Given the description of an element on the screen output the (x, y) to click on. 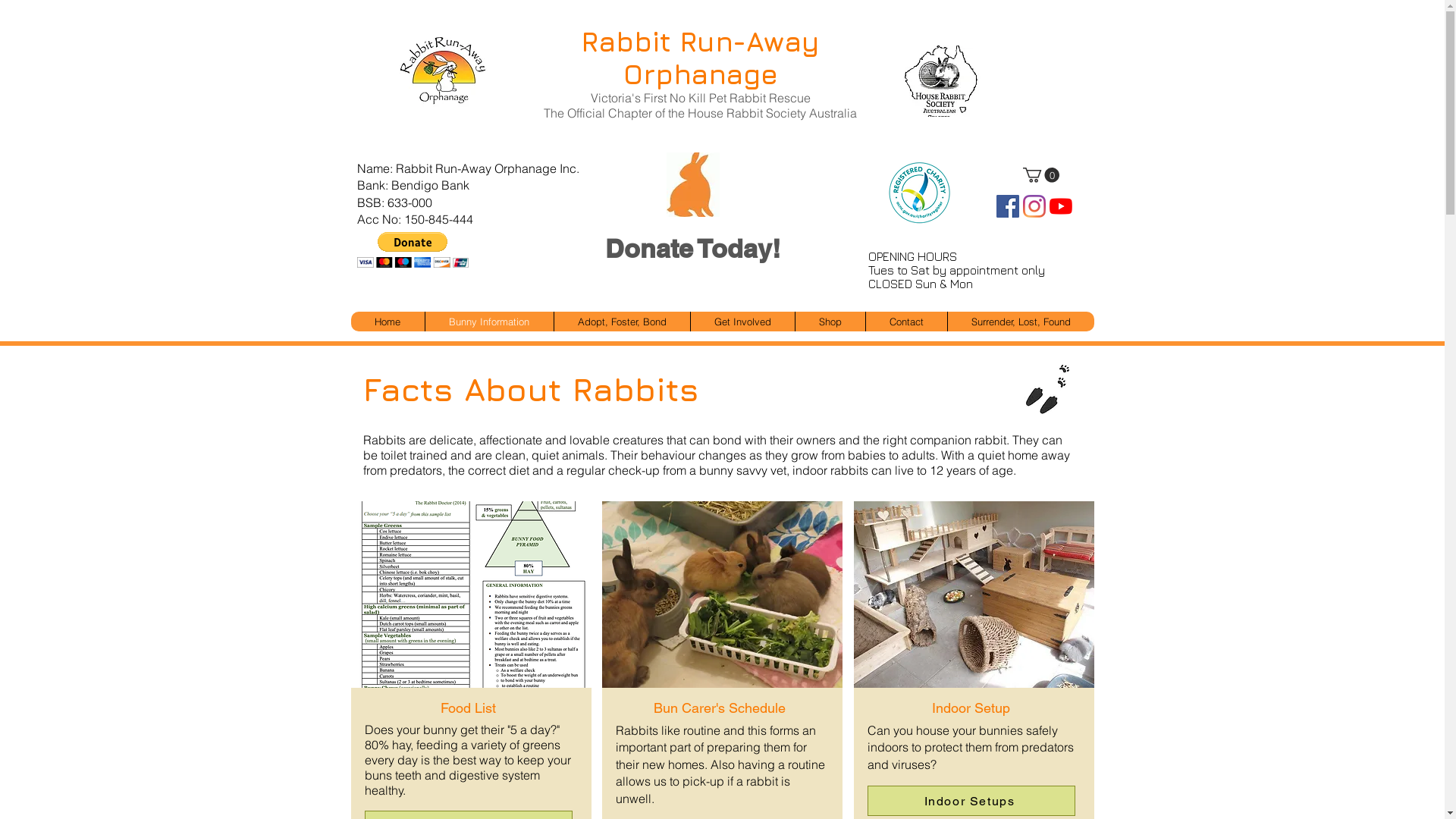
Blaze and Alani.jpg Element type: hover (721, 588)
Indoor Setups Element type: text (971, 800)
Blaze and Alani.jpg Element type: hover (469, 588)
0 Element type: text (1040, 174)
Contact Element type: text (905, 321)
Bunny Information Element type: text (488, 321)
RRO Logo New.jpg Element type: hover (442, 71)
Surrender, Lost, Found Element type: text (1019, 321)
Donate Today! Element type: text (691, 248)
Home Element type: text (386, 321)
Get Involved Element type: text (742, 321)
Shop Element type: text (829, 321)
Adopt, Foster, Bond Element type: text (621, 321)
Blaze and Alani.jpg Element type: hover (973, 588)
